Given the description of an element on the screen output the (x, y) to click on. 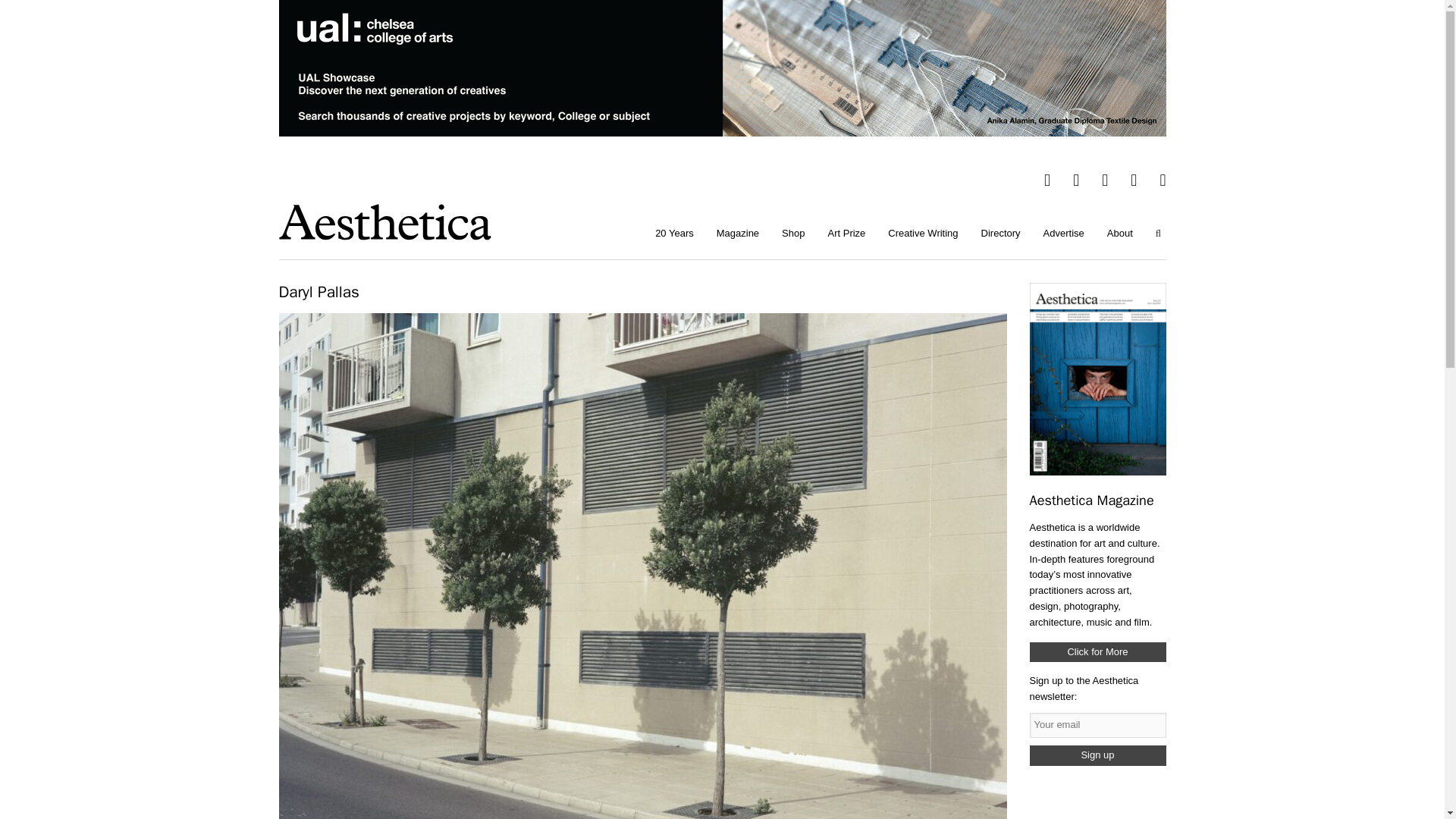
Art Prize (845, 234)
Shop (792, 234)
Directory (1000, 234)
Magazine (737, 234)
20 Years (673, 234)
Advertise (1064, 234)
Creative Writing (922, 234)
About (1120, 234)
